Given the description of an element on the screen output the (x, y) to click on. 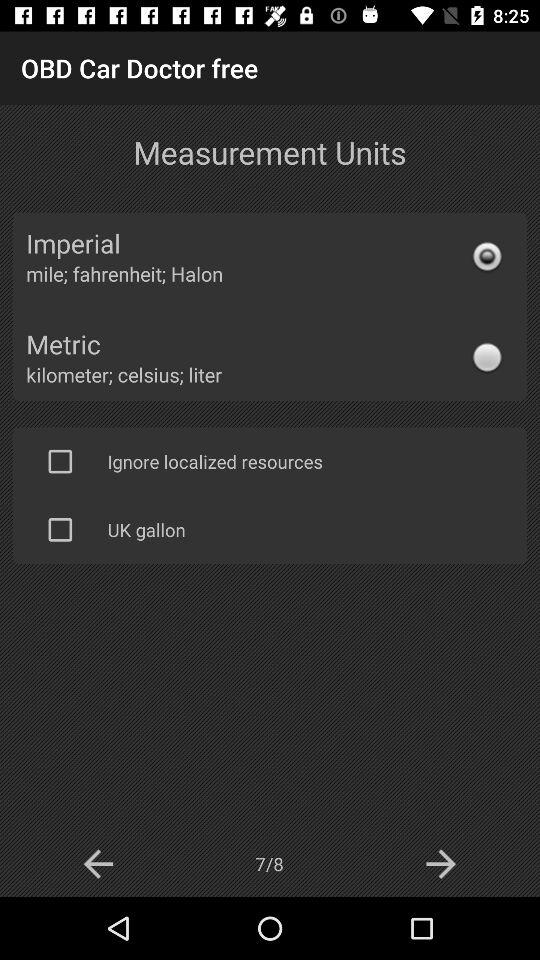
select ignore localized resources (60, 461)
